Given the description of an element on the screen output the (x, y) to click on. 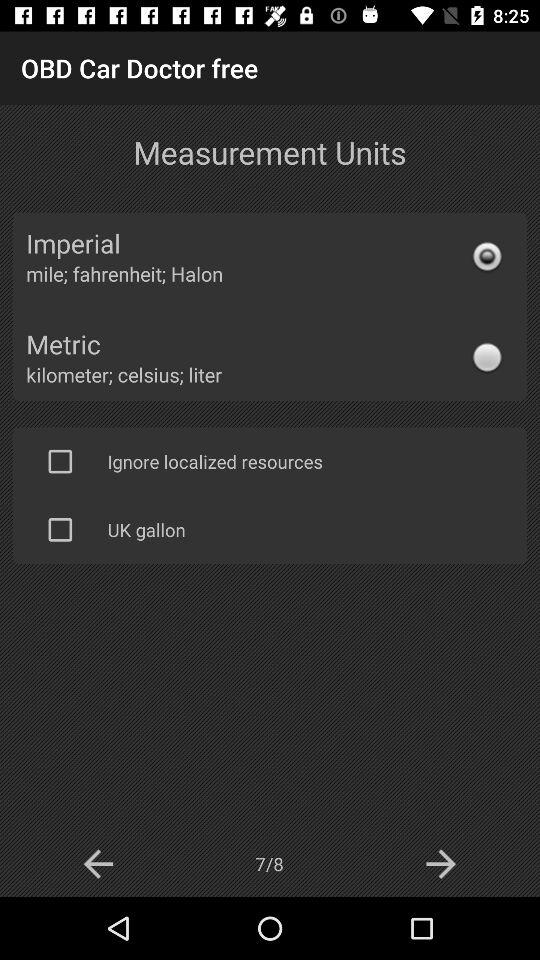
select ignore localized resources (60, 461)
